Given the description of an element on the screen output the (x, y) to click on. 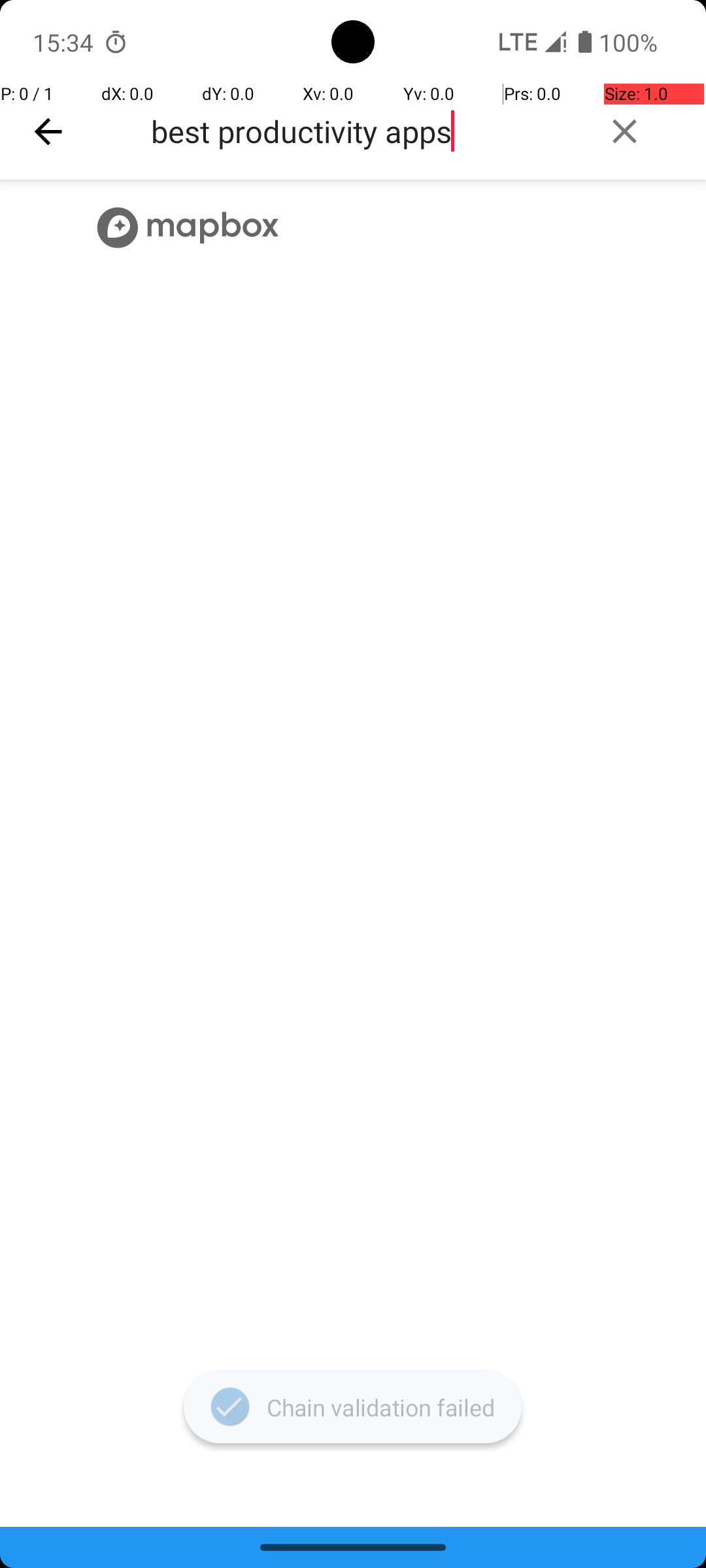
best productivity apps Element type: android.widget.AutoCompleteTextView (363, 130)
